Given the description of an element on the screen output the (x, y) to click on. 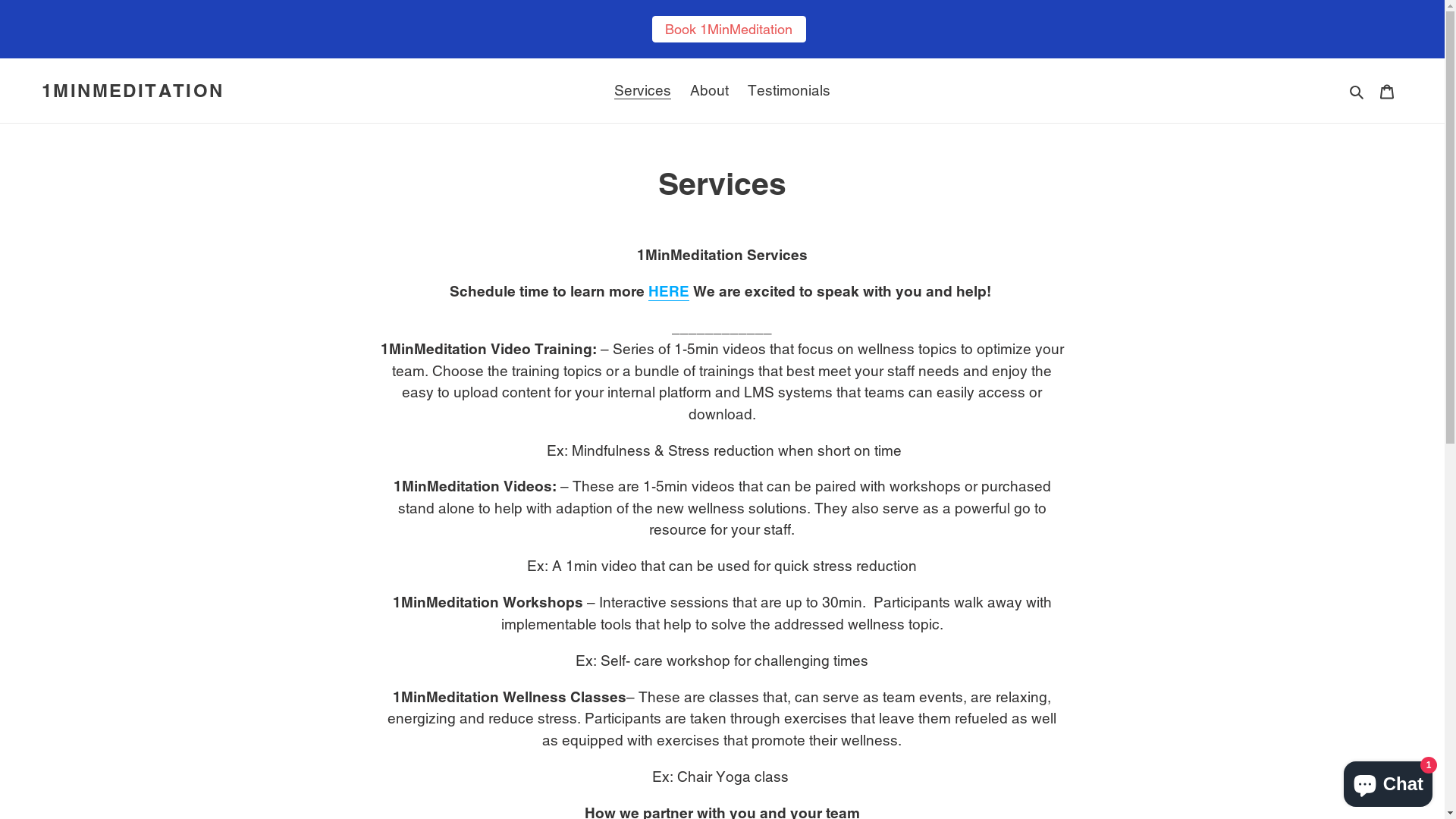
About Element type: text (709, 90)
Shopify online store chat Element type: hover (1388, 780)
Services Element type: text (642, 90)
Testimonials Element type: text (788, 90)
Cart Element type: text (1386, 90)
1MINMEDITATION Element type: text (132, 90)
Search Element type: text (1357, 90)
HERE Element type: text (668, 291)
Book 1MinMeditation Element type: text (729, 28)
